Given the description of an element on the screen output the (x, y) to click on. 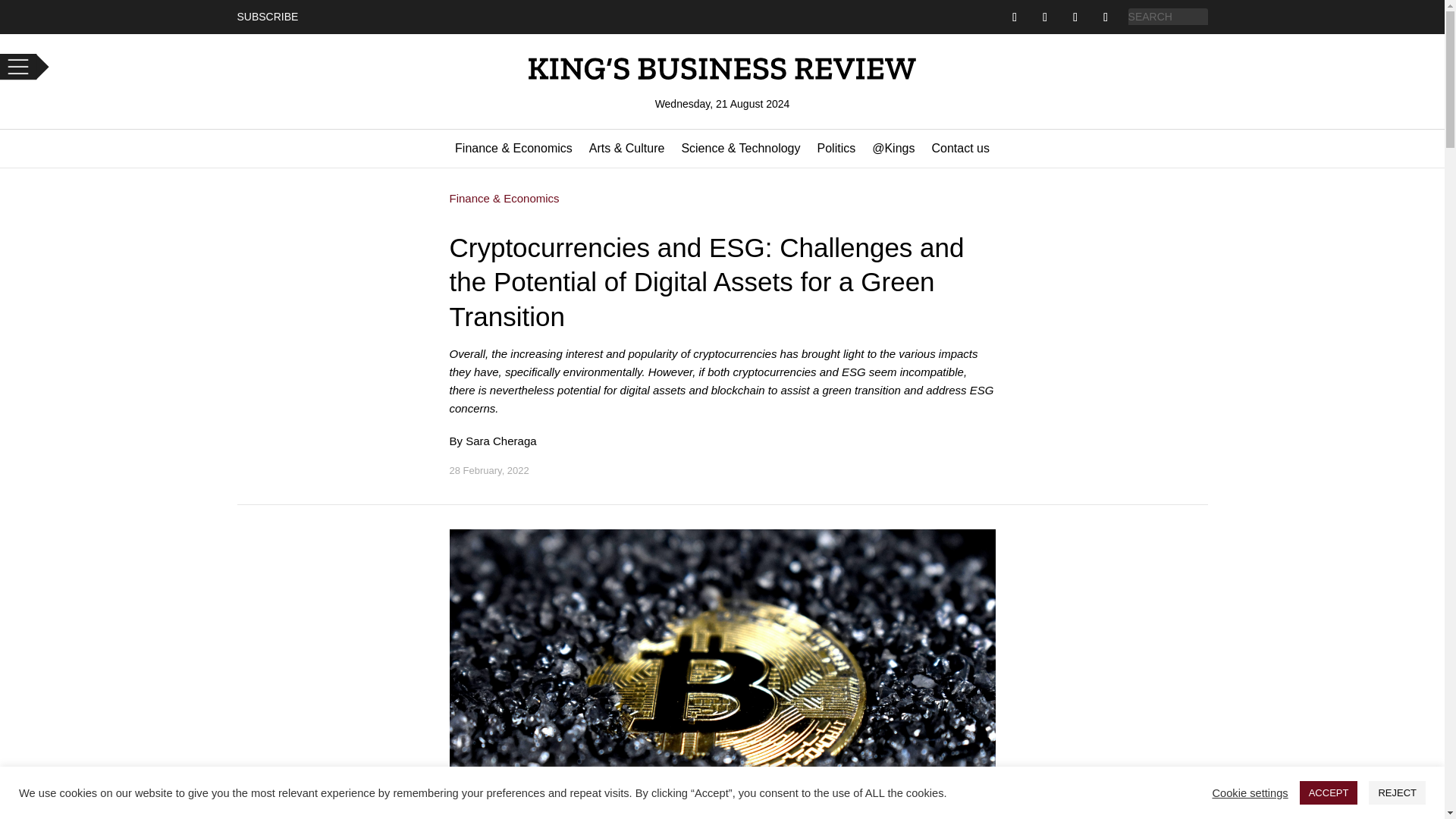
Follow on LinkedIn (1105, 16)
Politics (836, 151)
KBR-Logo-Horizontal (721, 68)
Follow on Twitter (1044, 16)
Follow on Instagram (1074, 16)
Sara Cheraga (500, 440)
Follow on Facebook (1014, 16)
Search (24, 9)
Contact us (959, 151)
